Given the description of an element on the screen output the (x, y) to click on. 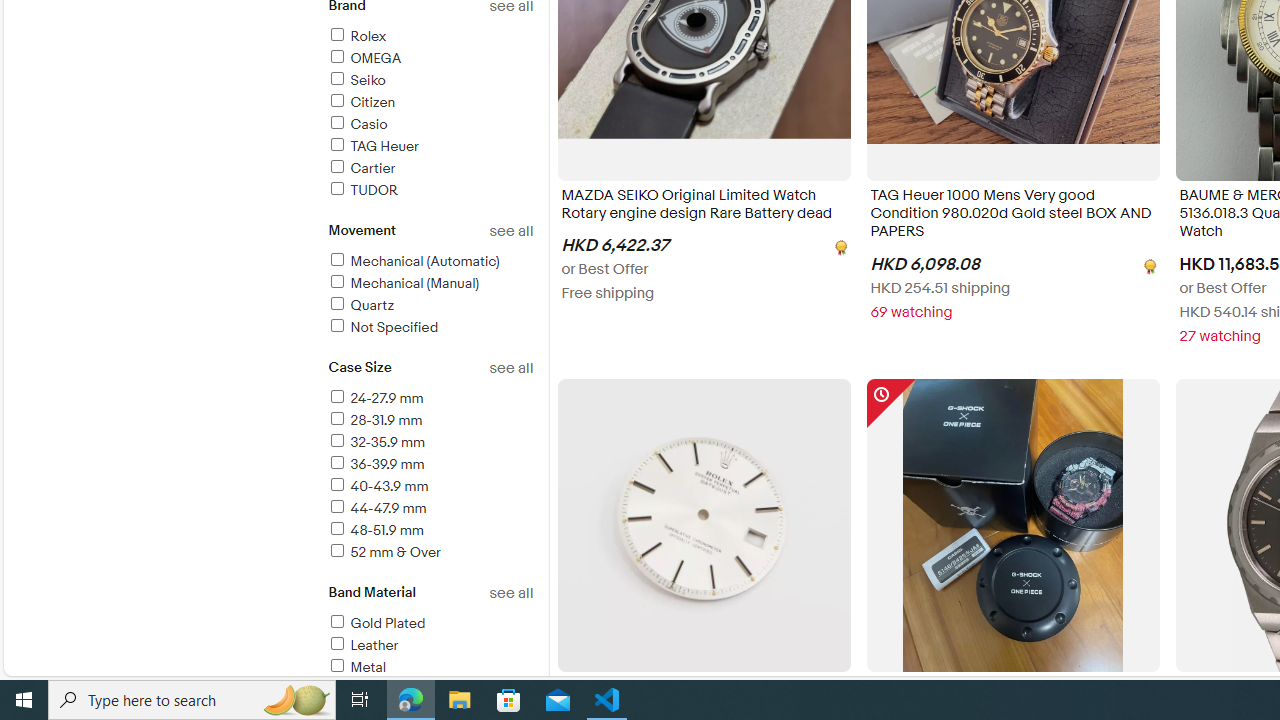
Mechanical (Manual) (403, 283)
52 mm & Over (430, 553)
32-35.9 mm (430, 443)
Quartz (430, 306)
Cartier (360, 168)
TUDOR (430, 191)
36-39.9 mm (375, 464)
Leather (362, 645)
Casio (356, 124)
OMEGA (363, 57)
32-35.9 mm (376, 442)
See all movement refinements (510, 231)
Gold Plated (430, 624)
48-51.9 mm (430, 531)
